Given the description of an element on the screen output the (x, y) to click on. 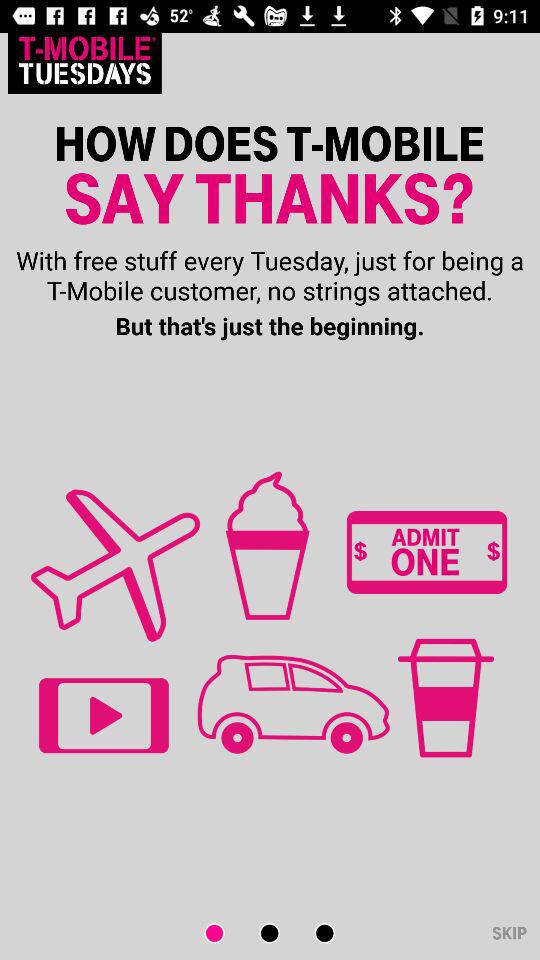
movement indicator (226, 933)
